Given the description of an element on the screen output the (x, y) to click on. 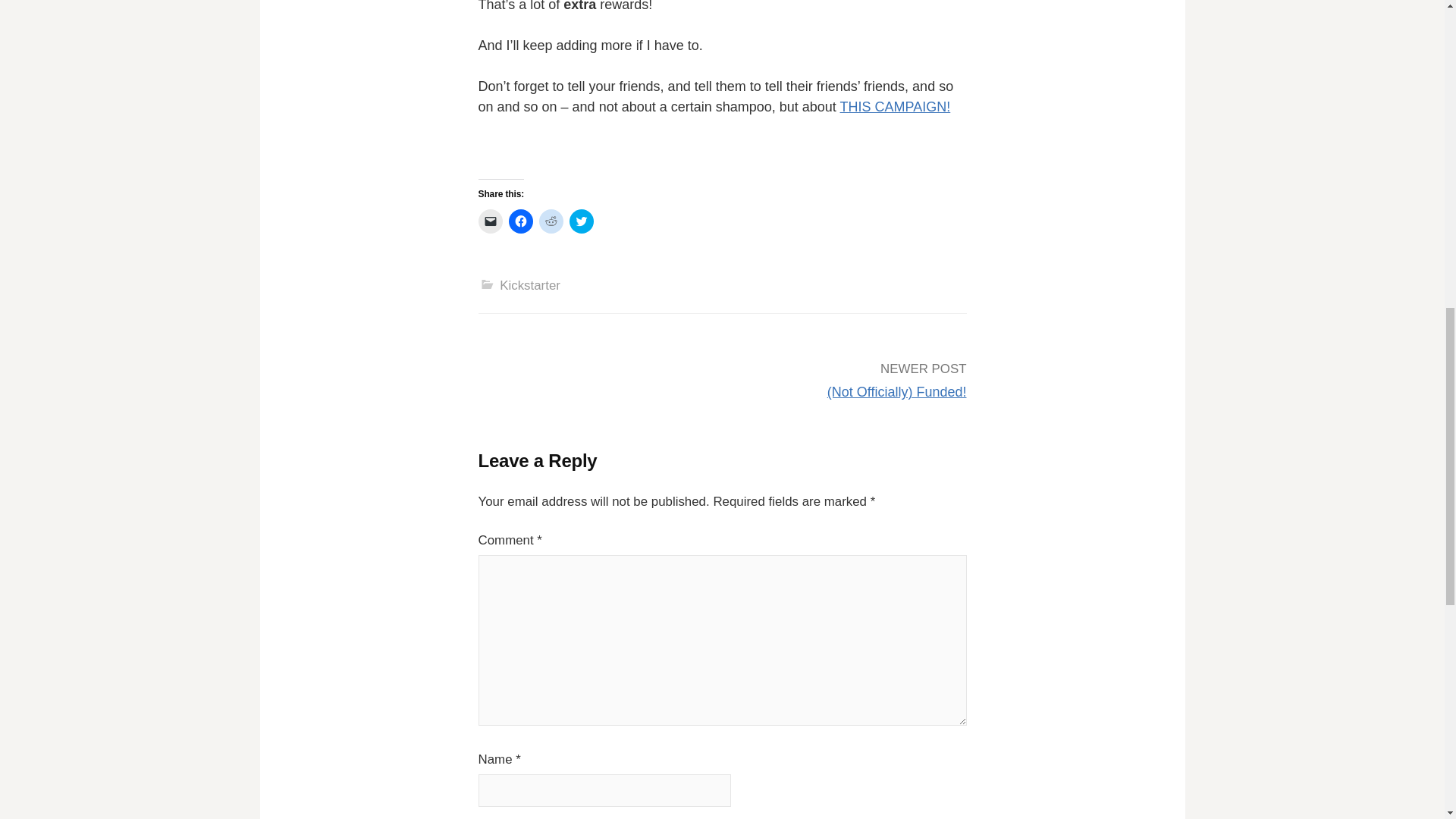
Click to share on Twitter (580, 221)
Click to share on Facebook (520, 221)
THIS CAMPAIGN! (895, 106)
Click to share on Reddit (550, 221)
Click to email a link to a friend (489, 221)
